Given the description of an element on the screen output the (x, y) to click on. 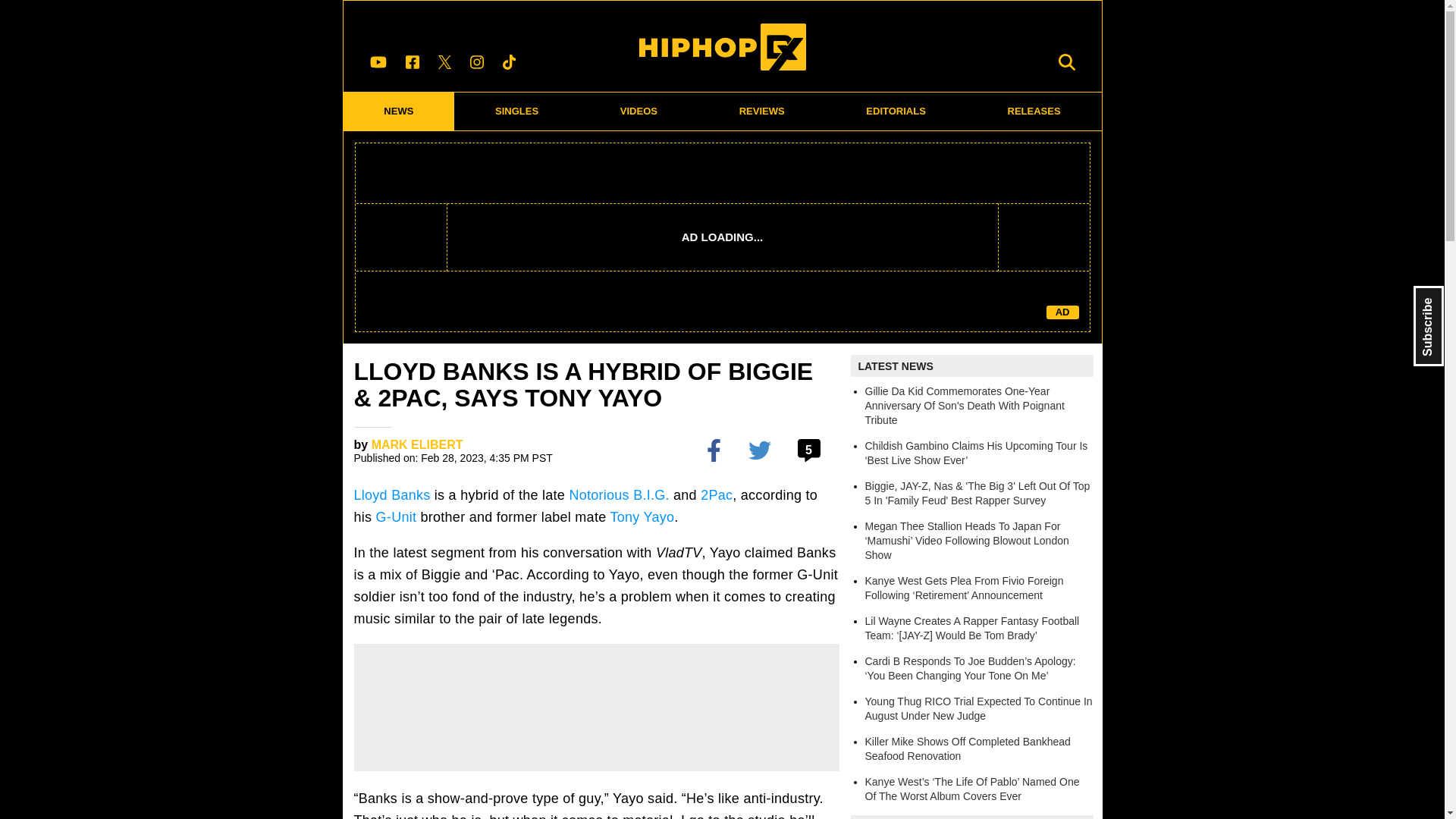
G-Unit (395, 516)
2Pac (716, 494)
RELEASES (1034, 111)
Tony Yayo (642, 516)
Lloyd Banks (391, 494)
MARK ELIBERT (417, 444)
SINGLES (516, 111)
Notorious B.I.G. (618, 494)
5 (810, 449)
REVIEWS (761, 111)
NEWS (398, 111)
VIDEOS (638, 111)
EDITORIALS (895, 111)
